Given the description of an element on the screen output the (x, y) to click on. 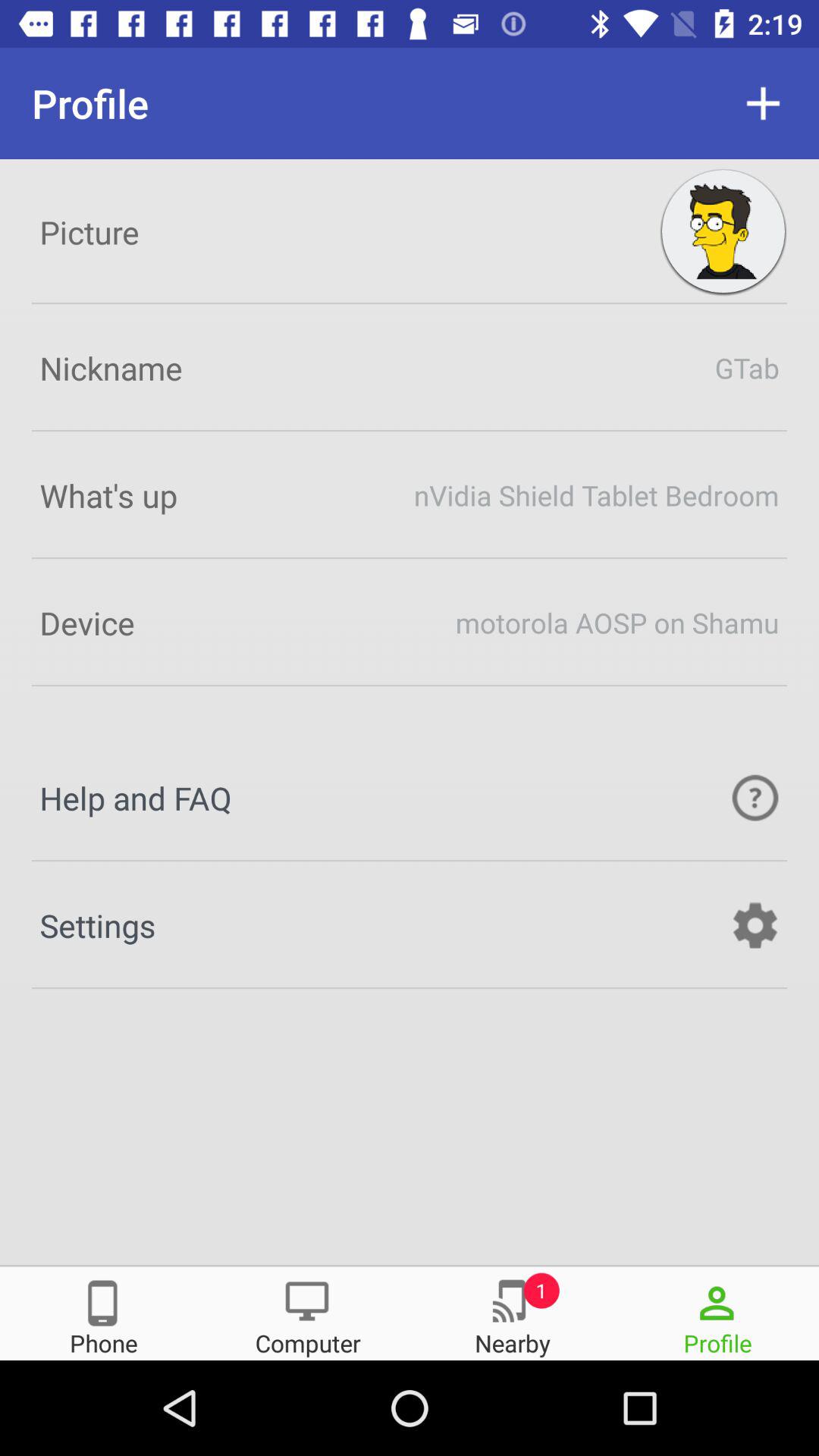
texts below nickname and gtab (409, 494)
click on the icon settings (409, 924)
click  plus symbol (763, 103)
click on the right of phone icon (306, 1312)
select the text which is immediately below the picture (409, 367)
select the 4th line (409, 622)
